Given the description of an element on the screen output the (x, y) to click on. 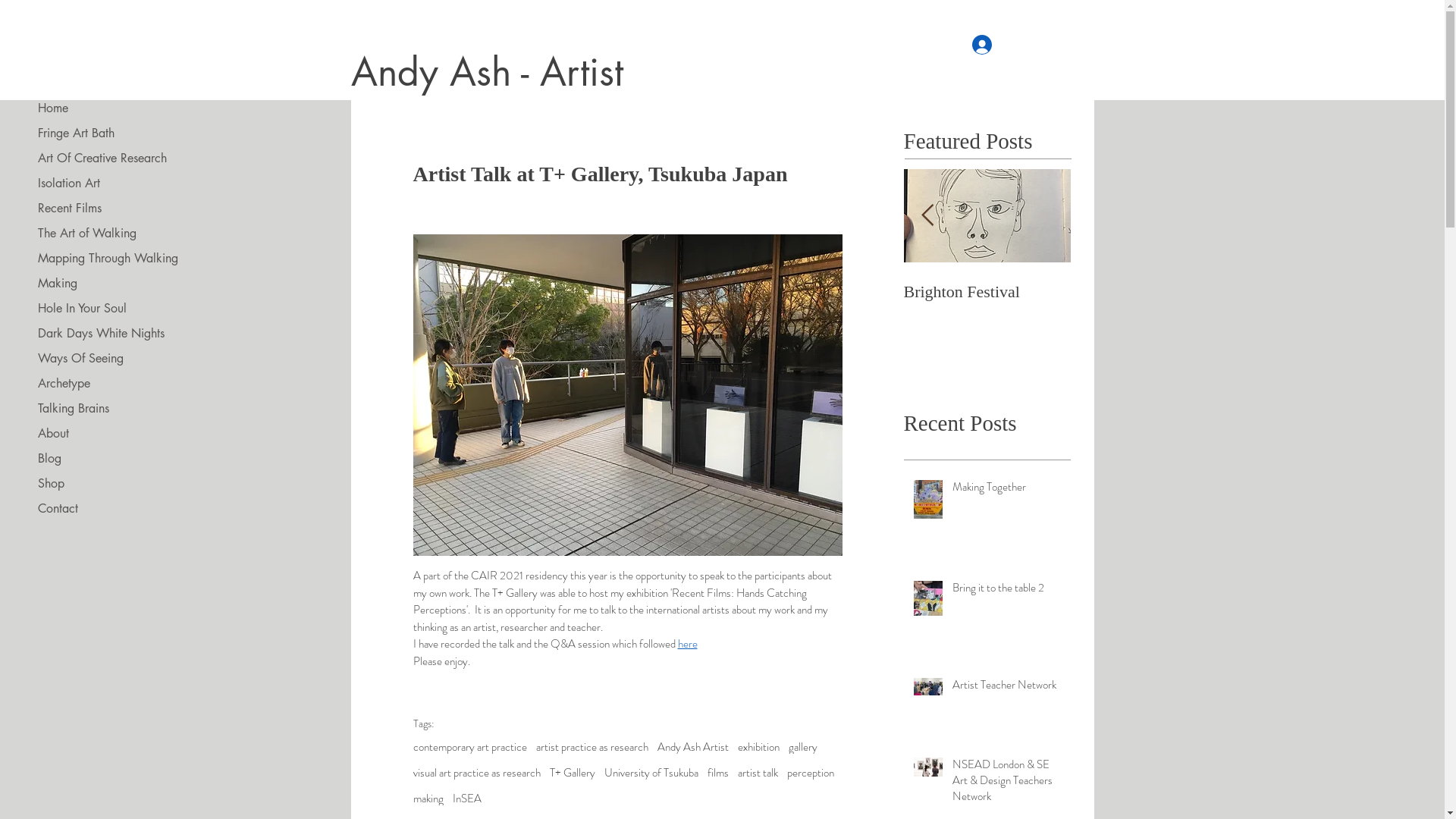
Bring it to the table 2 Element type: text (1006, 591)
Shop Element type: text (118, 482)
Brighton Festival Element type: text (986, 291)
University of Tsukuba Element type: text (650, 772)
Thinking is Sculpting Element type: text (820, 291)
visual art practice as research Element type: text (475, 772)
The Art of Walking #2 in Japan Element type: text (653, 301)
Home Element type: text (118, 107)
T+ Gallery Element type: text (571, 772)
NSEAD London & SE Art & Design Teachers Network Element type: text (1006, 783)
here Element type: text (687, 643)
artist talk Element type: text (757, 772)
Artist Teacher Network Element type: text (1006, 688)
films Element type: text (717, 772)
contemporary art practice Element type: text (469, 746)
Contact Element type: text (118, 507)
Making Together Element type: text (1006, 490)
Log In Element type: text (1000, 44)
Andy Ash Artist Element type: text (692, 746)
making Element type: text (427, 798)
gallery Element type: text (802, 746)
InSEA Element type: text (465, 798)
perception Element type: text (810, 772)
Blog Element type: text (118, 457)
Hole In Your Soul Element type: text (118, 307)
artist practice as research Element type: text (591, 746)
exhibition Element type: text (757, 746)
